Given the description of an element on the screen output the (x, y) to click on. 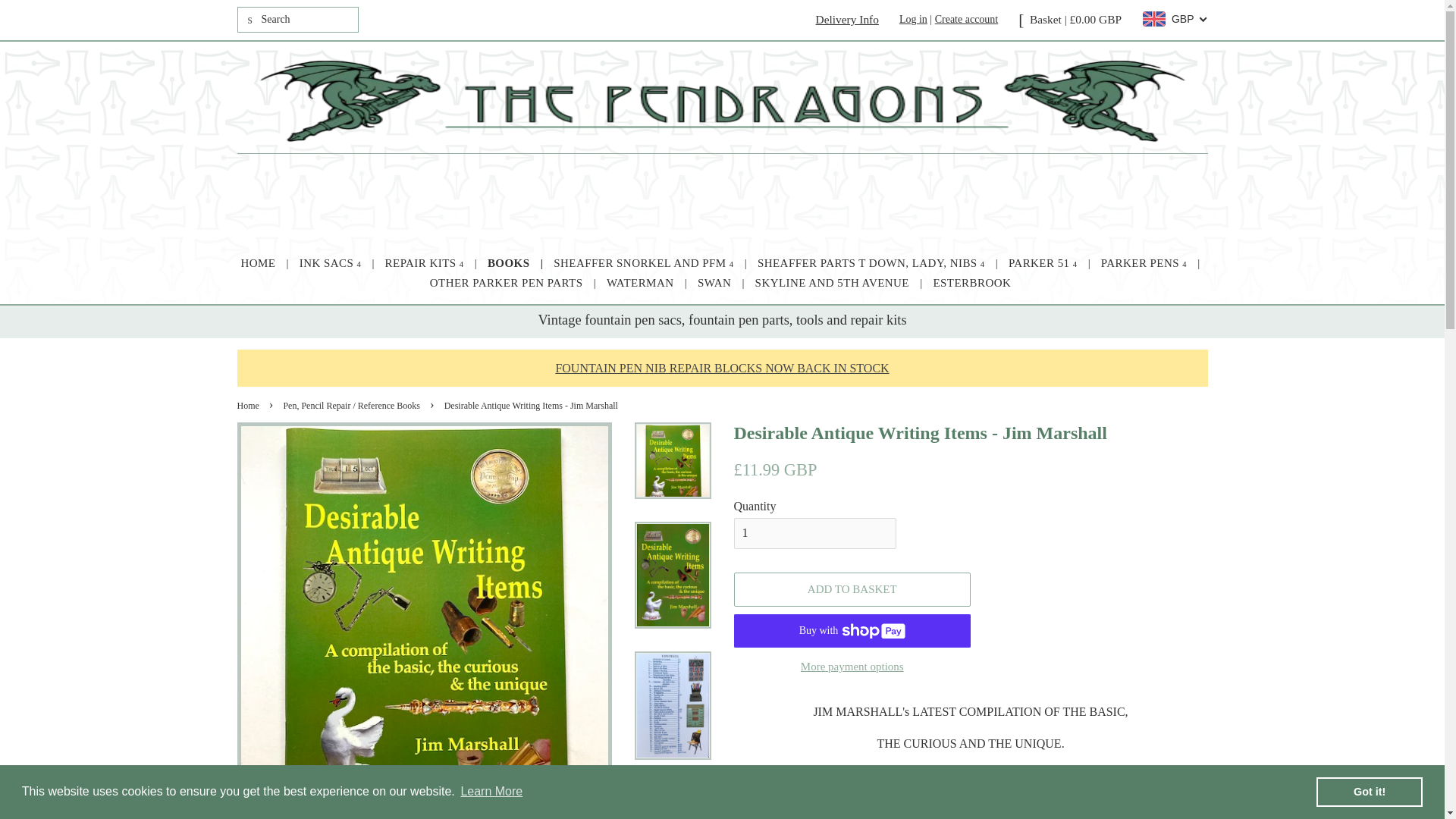
SEARCH (250, 19)
Create account (966, 19)
Delivery Info (847, 19)
1 (814, 532)
Learn More (491, 791)
Got it! (1369, 791)
Log in (913, 19)
Back to the frontpage (248, 405)
